Given the description of an element on the screen output the (x, y) to click on. 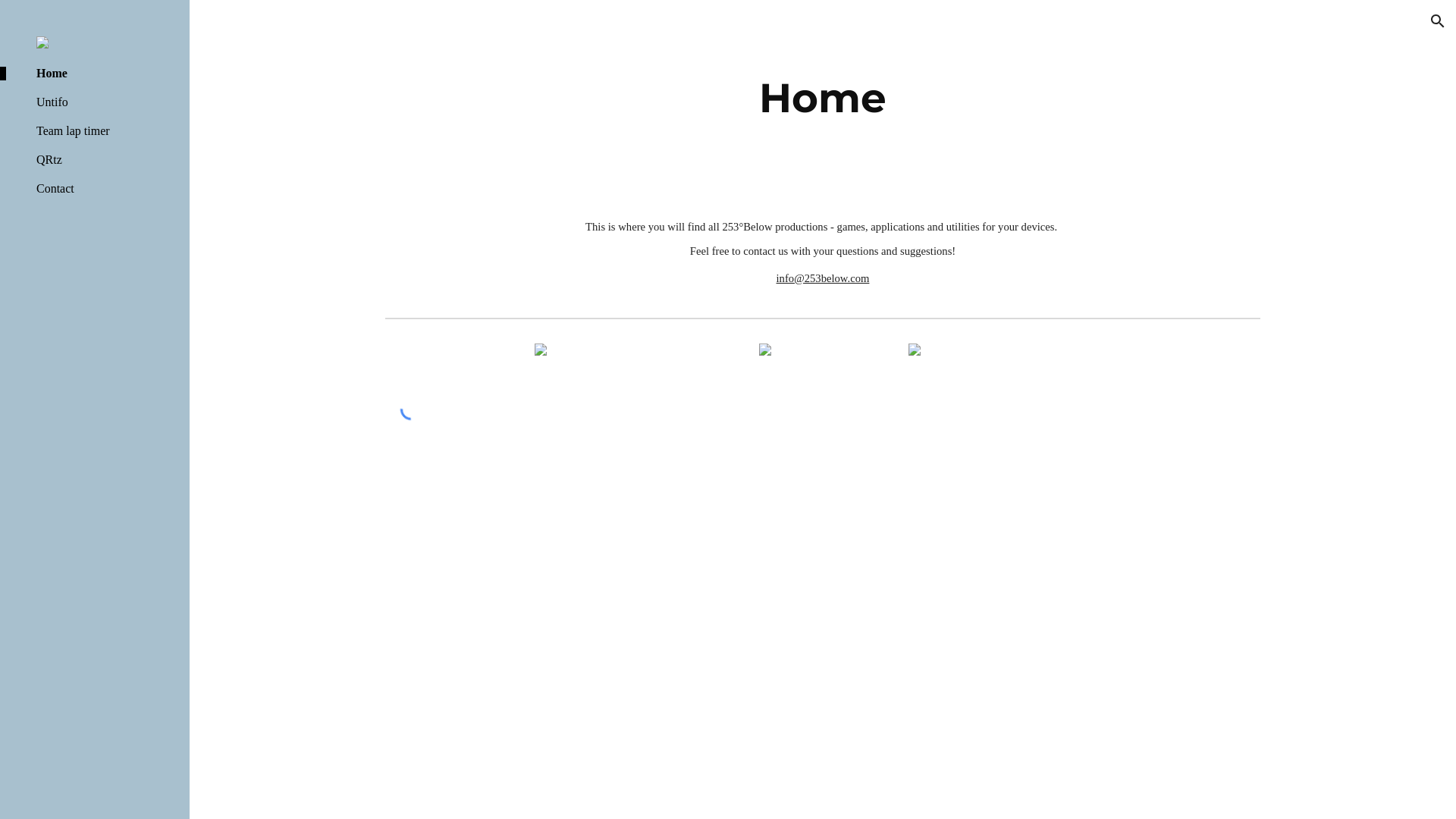
info@253below.com Element type: text (822, 278)
QRtz Element type: text (106, 159)
Custom embed Element type: hover (411, 409)
Home Element type: text (106, 73)
Untifo Element type: text (106, 102)
Contact Element type: text (106, 188)
Team lap timer Element type: text (106, 131)
